Given the description of an element on the screen output the (x, y) to click on. 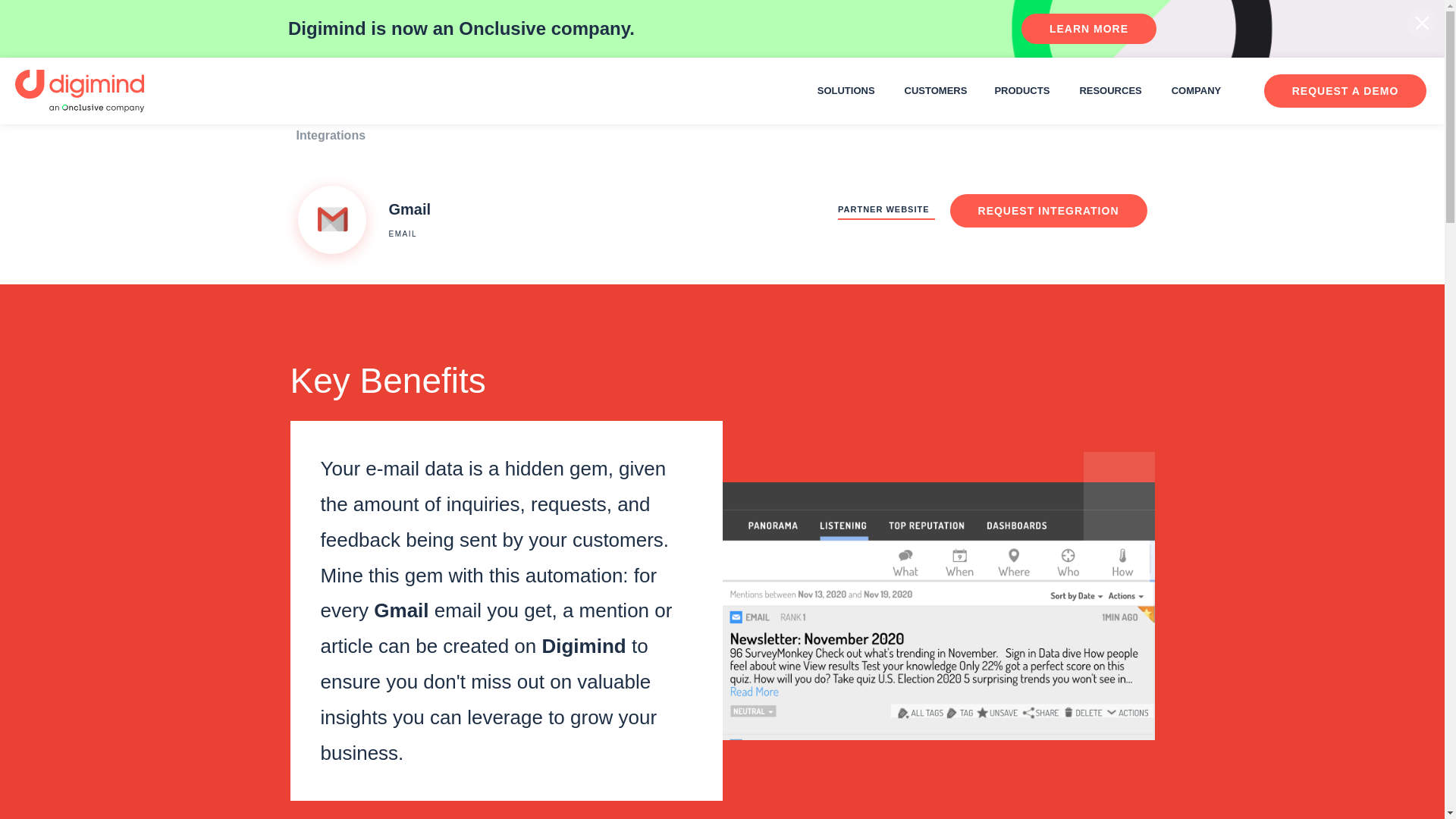
CUSTOMERS (936, 90)
Digimind an Onclusive company logo (79, 90)
LEARN MORE (1089, 28)
REQUEST INTEGRATION (1048, 212)
RESOURCES (1111, 90)
COMPANY (1196, 90)
Integrations (327, 137)
PARTNER WEBSITE (886, 212)
SOLUTIONS (847, 90)
Learn More (1089, 28)
REQUEST A DEMO (1344, 90)
PRODUCTS (1022, 90)
